Given the description of an element on the screen output the (x, y) to click on. 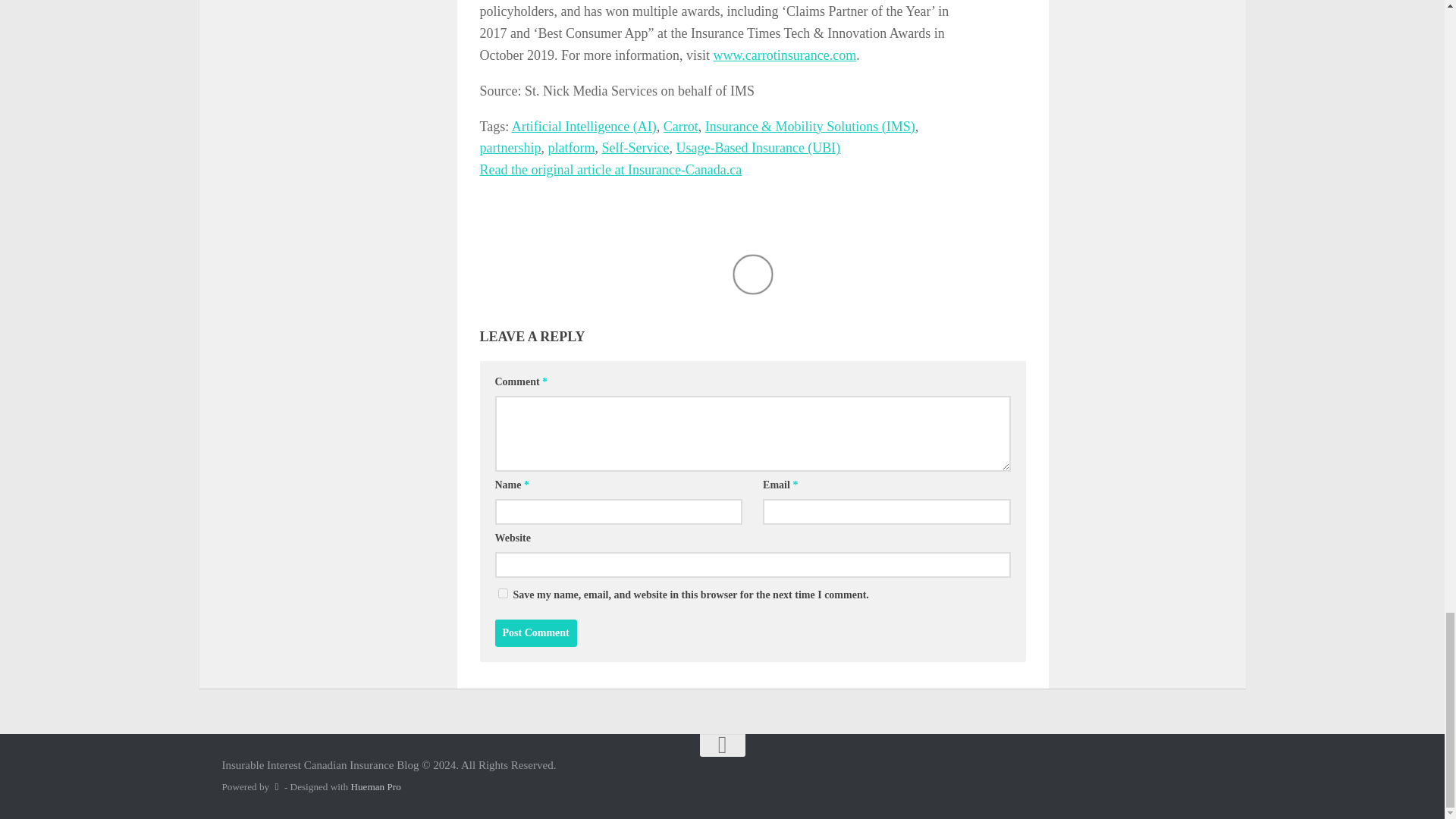
Post Comment (535, 633)
Read the original article at Insurance-Canada.ca (610, 169)
platform (570, 147)
Self-Service (634, 147)
partnership (509, 147)
Hueman Pro (375, 786)
Carrot (680, 126)
Post Comment (535, 633)
www.carrotinsurance.com (784, 55)
yes (501, 593)
